Given the description of an element on the screen output the (x, y) to click on. 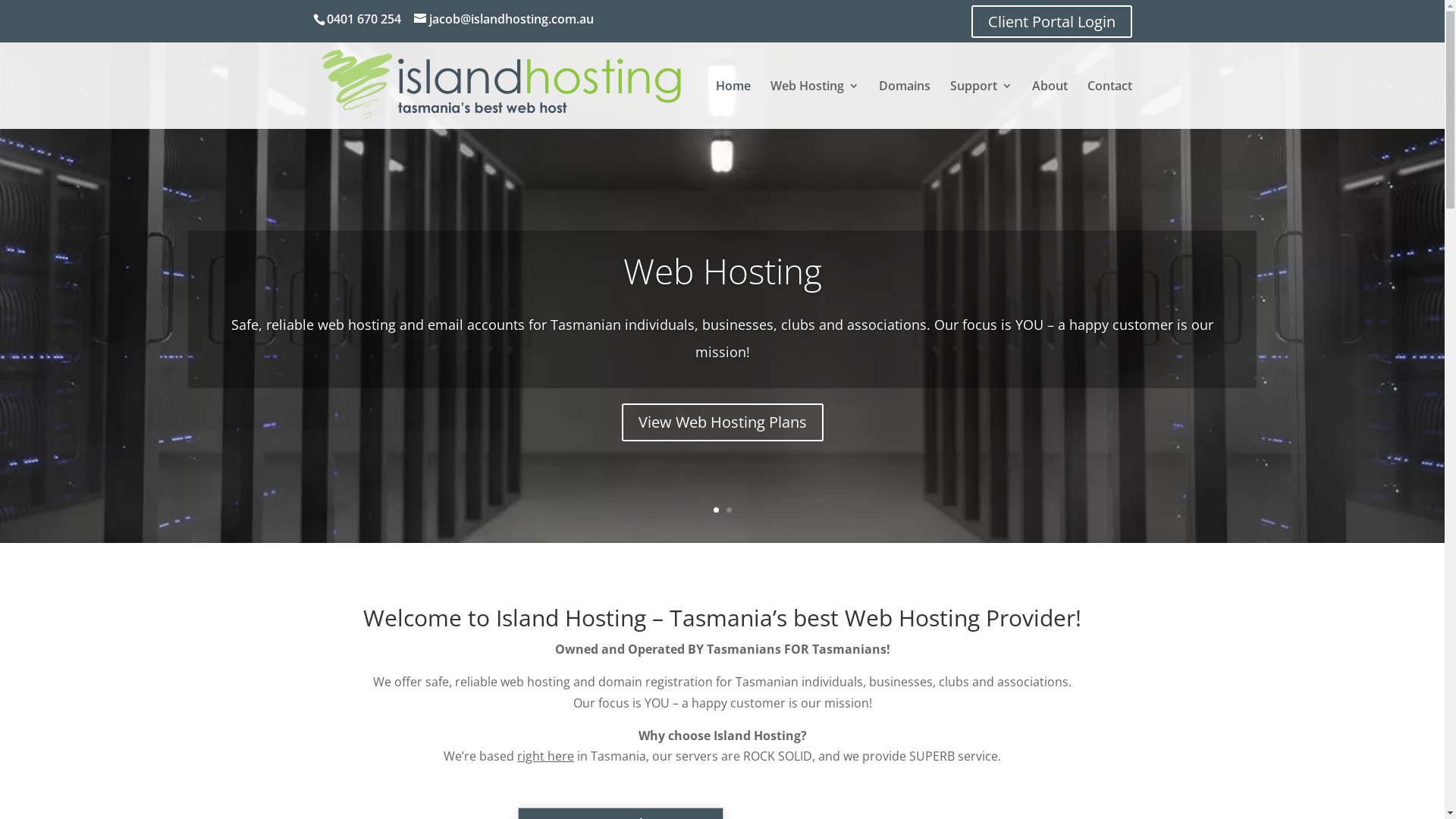
Web Hosting Element type: text (814, 104)
2 Element type: text (728, 509)
Client Portal Login Element type: text (1050, 21)
Contact Element type: text (1109, 104)
1 Element type: text (715, 509)
Domains Element type: text (903, 104)
Web Hosting Element type: text (722, 270)
Home Element type: text (732, 104)
About Element type: text (1048, 104)
jacob@islandhosting.com.au Element type: text (503, 18)
Support Element type: text (980, 104)
View Web Hosting Plans Element type: text (722, 422)
